Given the description of an element on the screen output the (x, y) to click on. 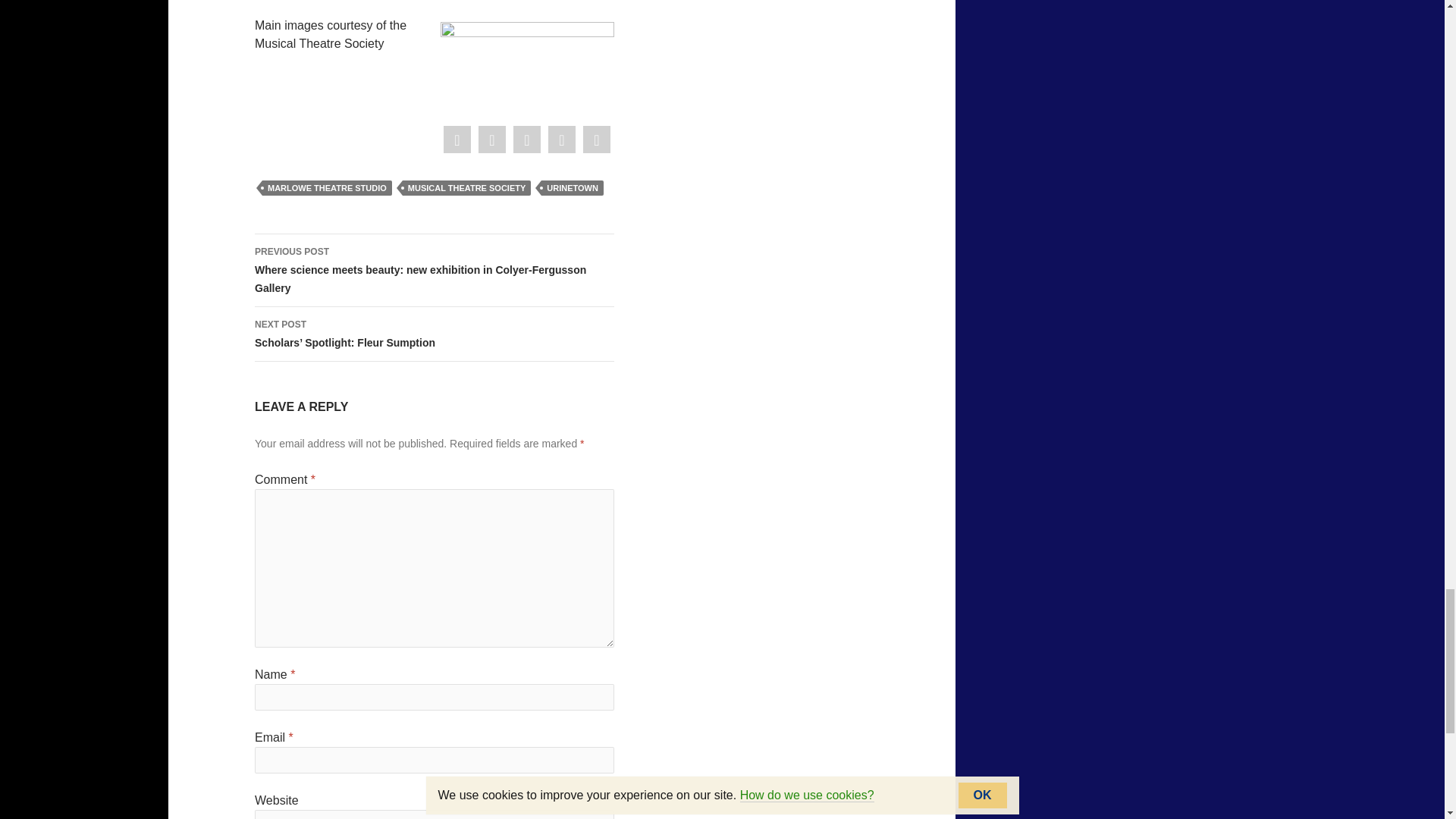
Share via Email (596, 139)
MUSICAL THEATRE SOCIETY (467, 187)
URINETOWN (572, 187)
Share via Google Plus (526, 139)
Share via Facebook (456, 139)
Share via Twitter (491, 139)
Share via Linked In (561, 139)
MARLOWE THEATRE STUDIO (326, 187)
